Given the description of an element on the screen output the (x, y) to click on. 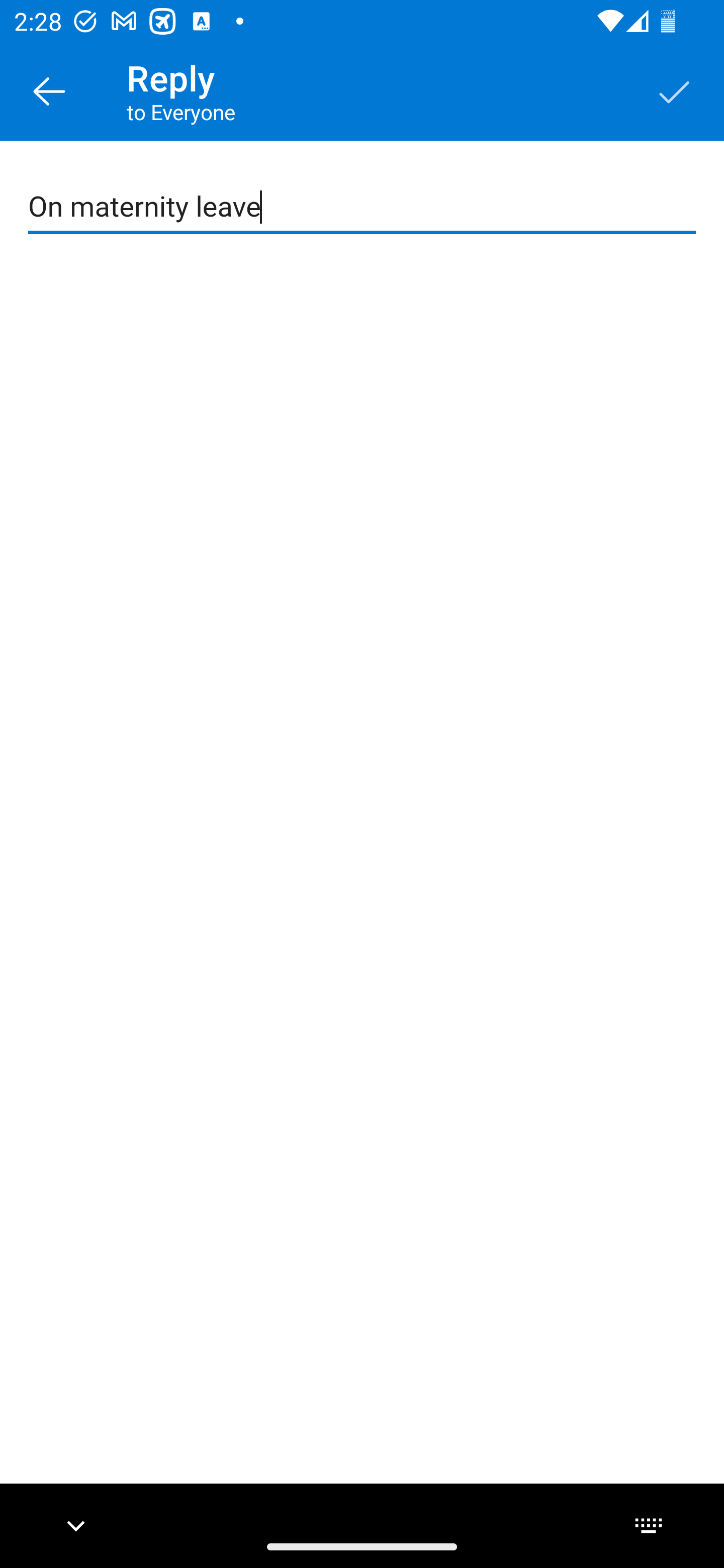
Back (49, 90)
Save (674, 90)
On maternity leave (363, 206)
